Given the description of an element on the screen output the (x, y) to click on. 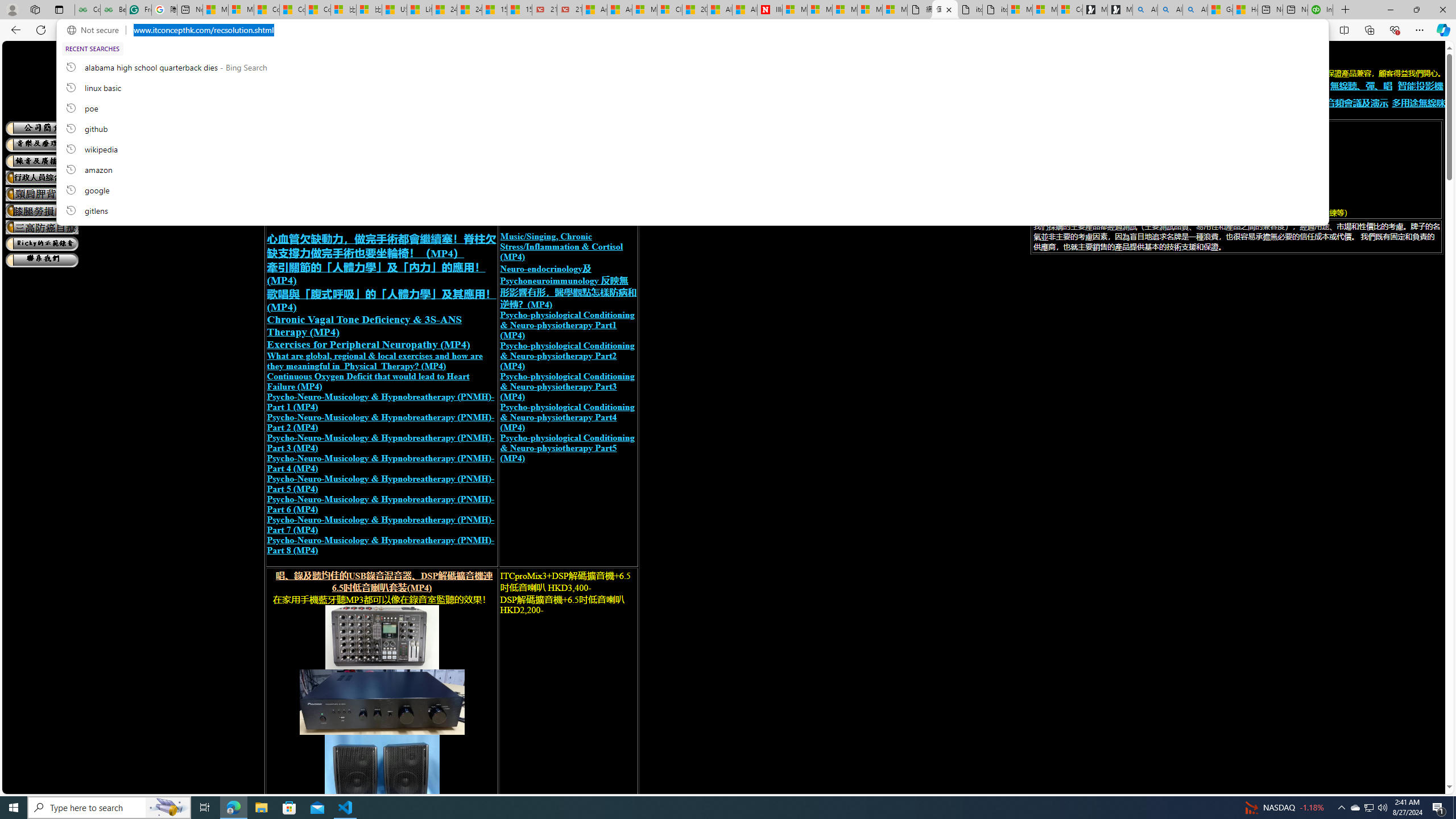
Complete Guide to Arrays Data Structure - GeeksforGeeks (86, 9)
Exercises for Peripheral Neuropathy (MP4) (368, 344)
recording mixer (381, 637)
github, recent searches from history (691, 127)
Alabama high school quarterback dies - Search (1144, 9)
wikipedia, recent searches from history (691, 148)
Intuit QuickBooks Online - Quickbooks (1320, 9)
